Given the description of an element on the screen output the (x, y) to click on. 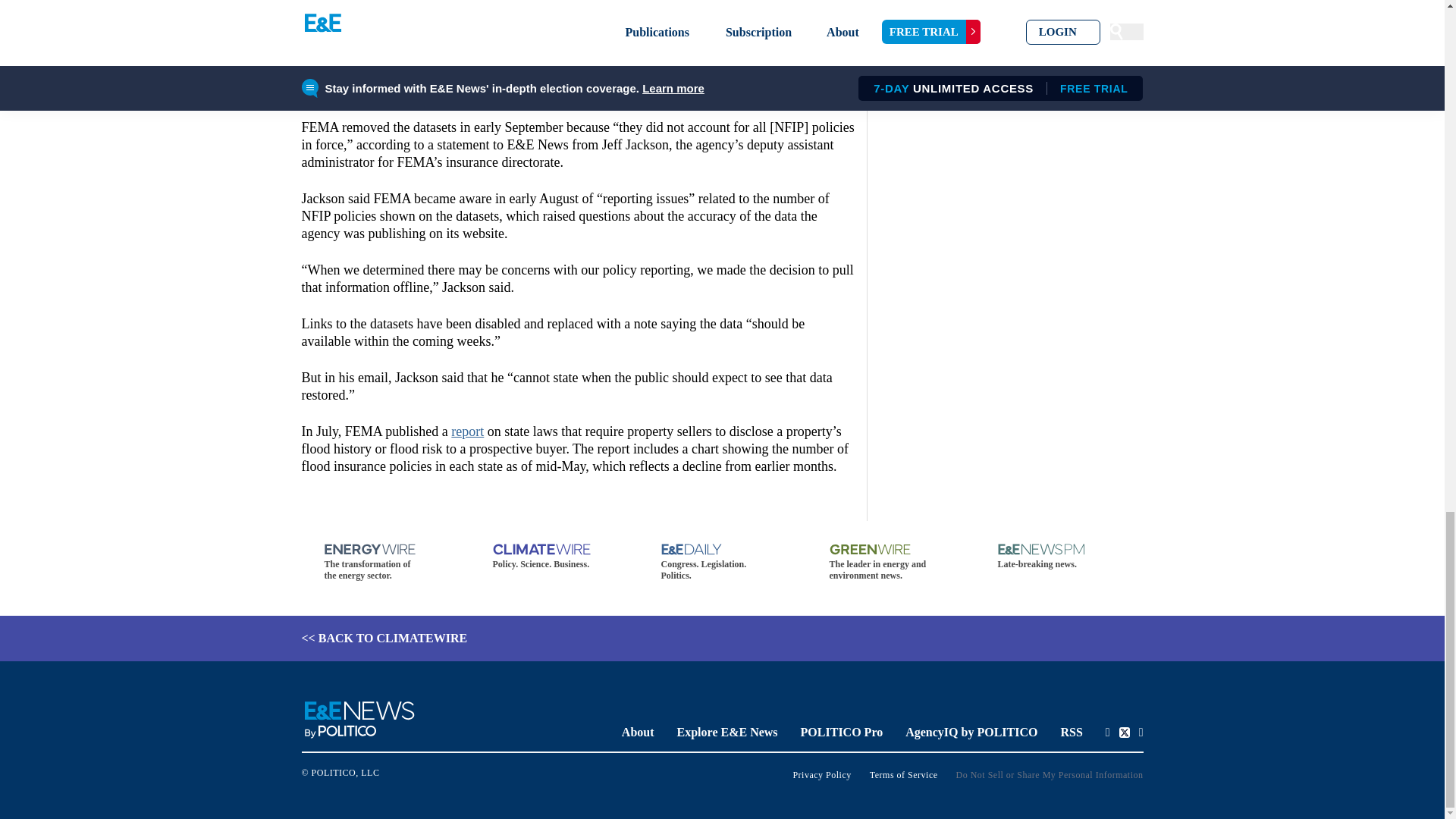
The leader in energy and environment news. (890, 562)
Congress. Legislation. Politics. (722, 562)
report (467, 431)
Policy. Science. Business. (554, 556)
The transformation of the energy sector. (385, 562)
Late-breaking news. (1058, 556)
About (637, 731)
